Given the description of an element on the screen output the (x, y) to click on. 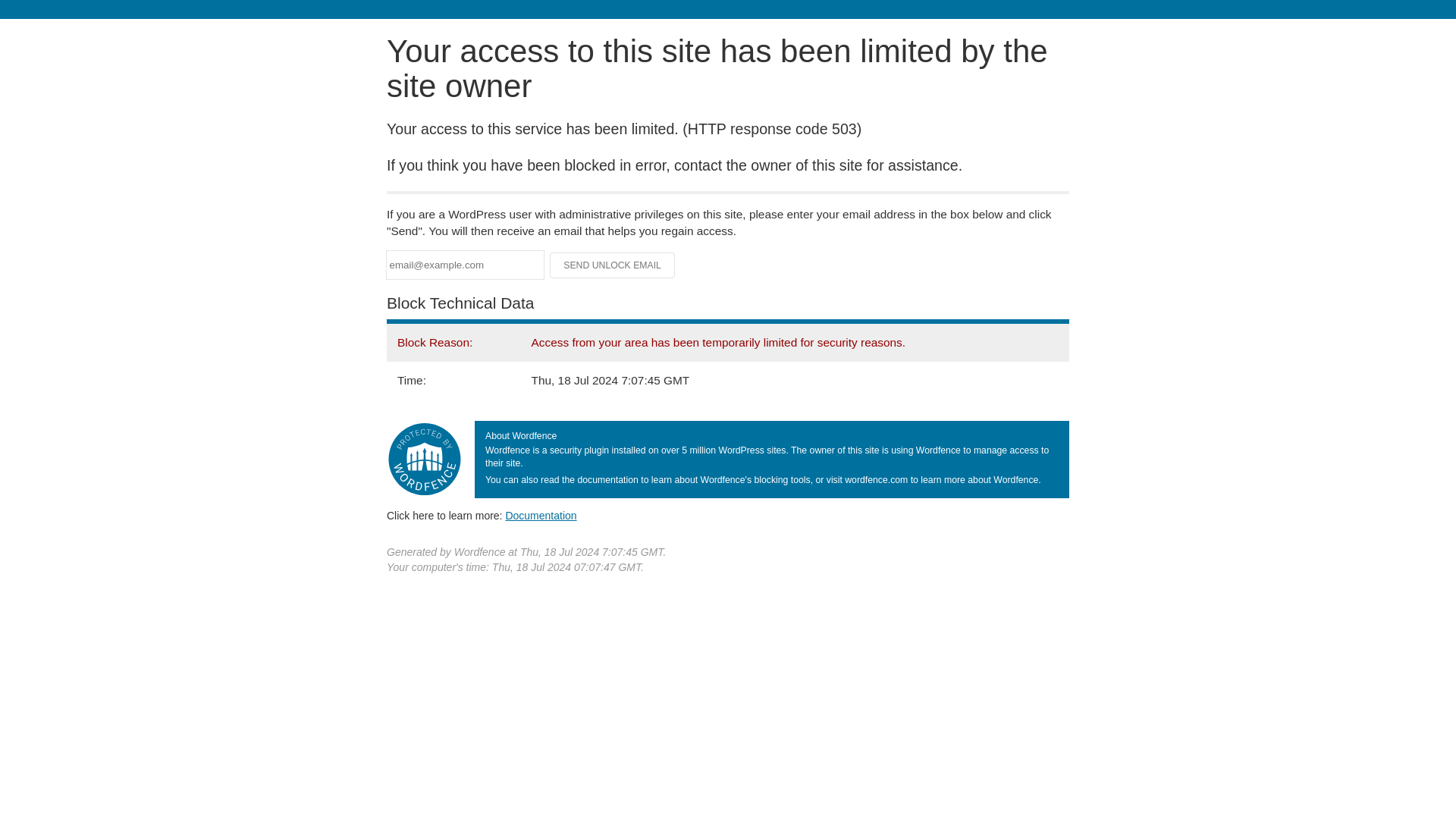
Send Unlock Email (612, 265)
Send Unlock Email (612, 265)
Documentation (540, 515)
